Given the description of an element on the screen output the (x, y) to click on. 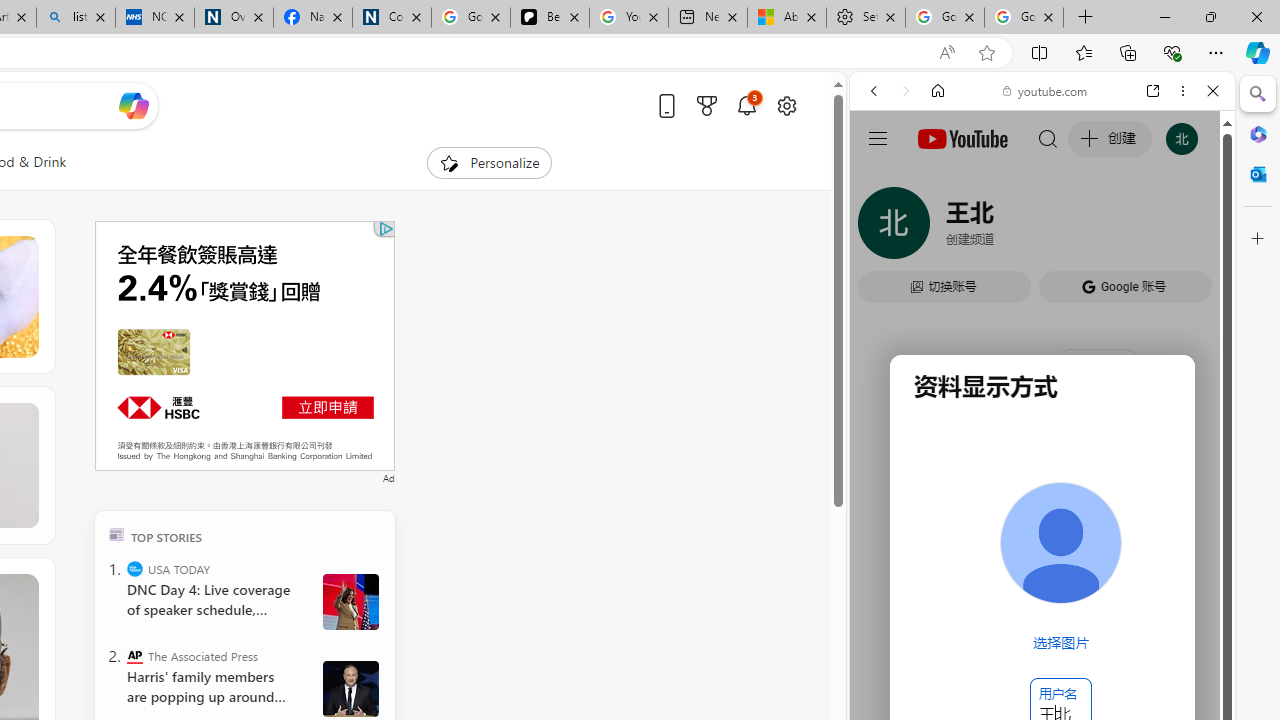
Class: qc-adchoices-icon (386, 228)
NCL Adult Asthma Inhaler Choice Guideline (155, 17)
Search Filter, Search Tools (1093, 228)
Trailer #2 [HD] (1042, 592)
